Given the description of an element on the screen output the (x, y) to click on. 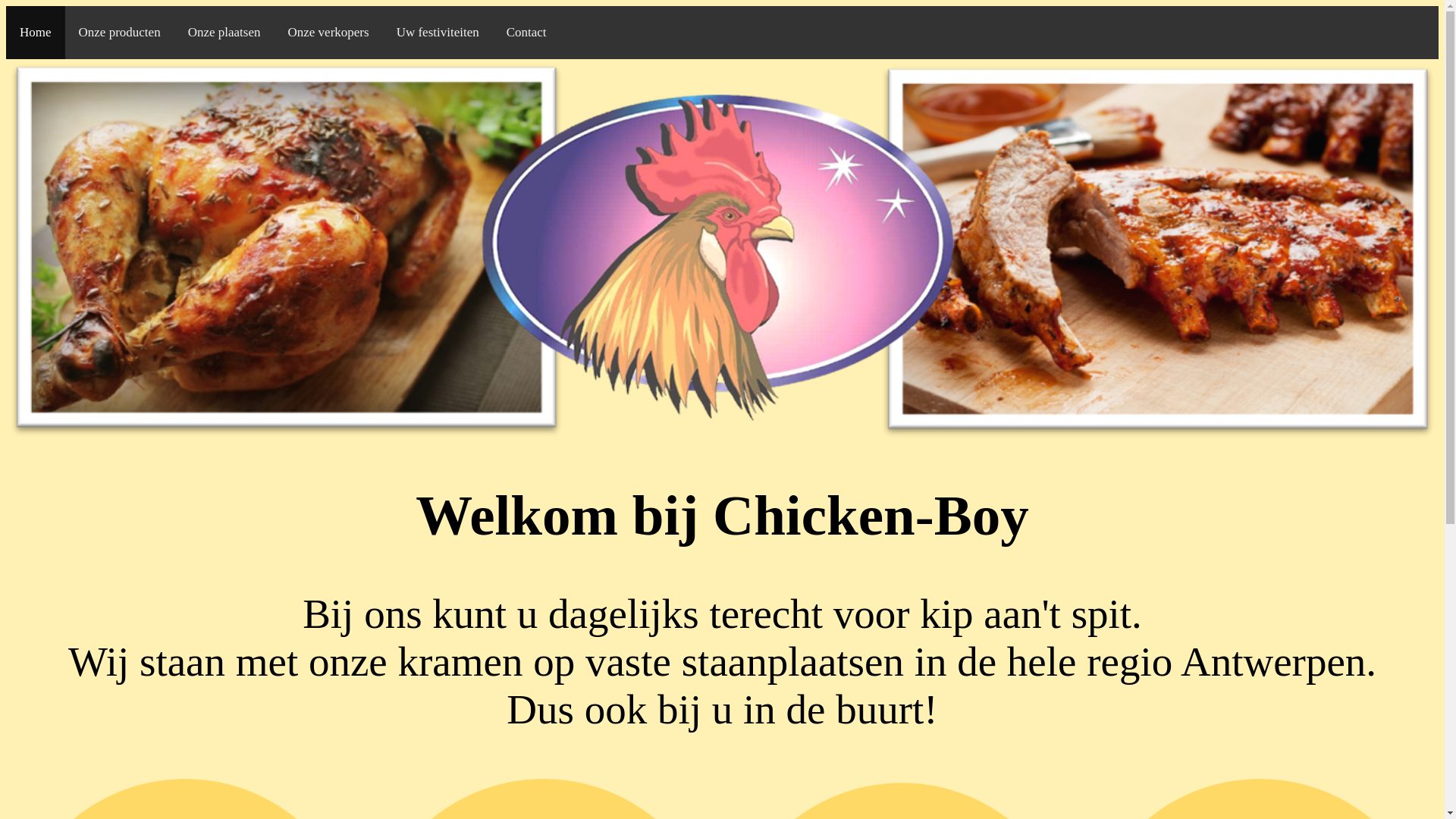
Onze verkopers Element type: text (327, 32)
Onze producten Element type: text (119, 32)
Onze plaatsen Element type: text (224, 32)
Uw festiviteiten Element type: text (437, 32)
Contact Element type: text (526, 32)
Home Element type: text (35, 32)
